Given the description of an element on the screen output the (x, y) to click on. 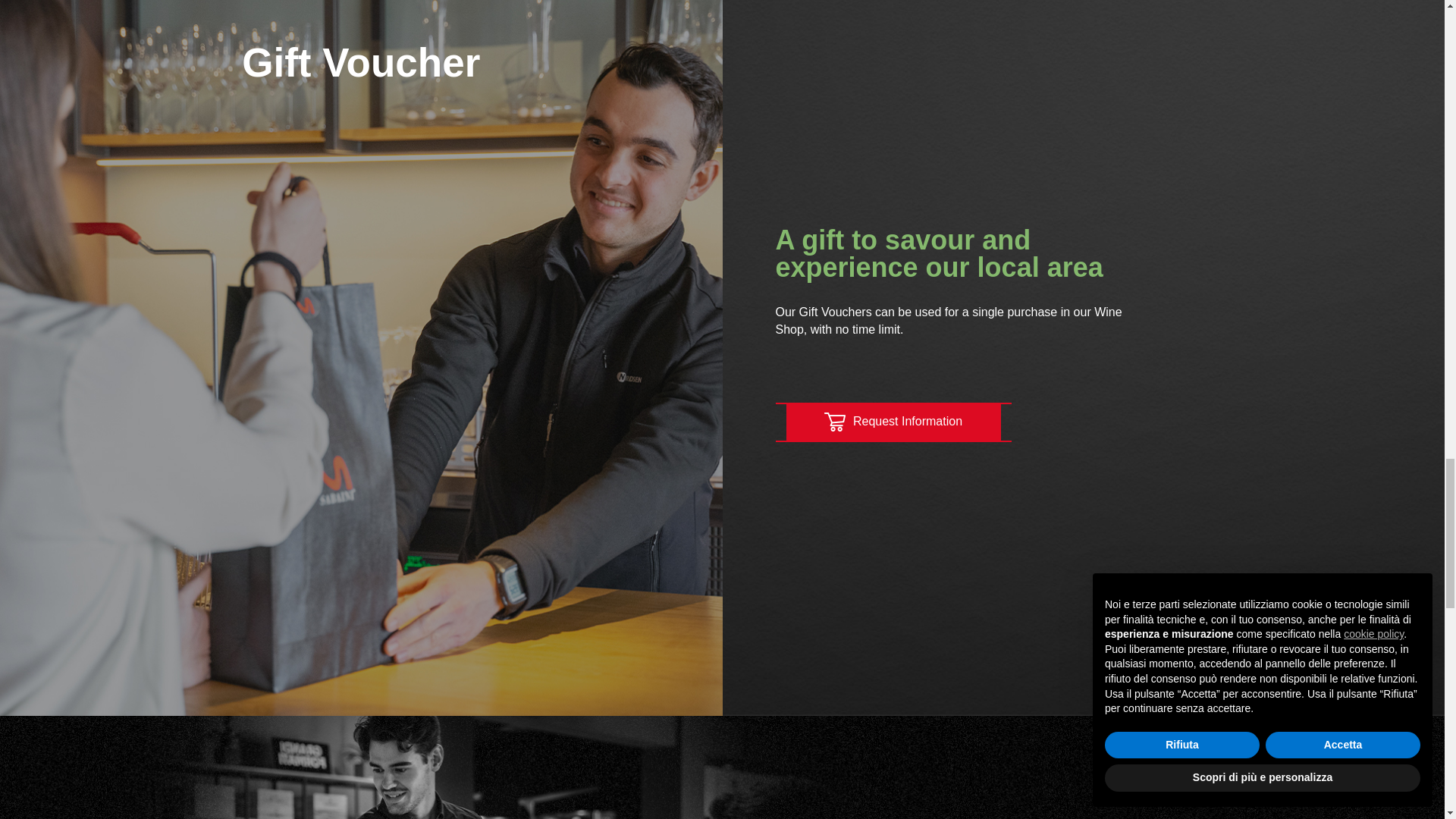
Request Information (893, 420)
